Given the description of an element on the screen output the (x, y) to click on. 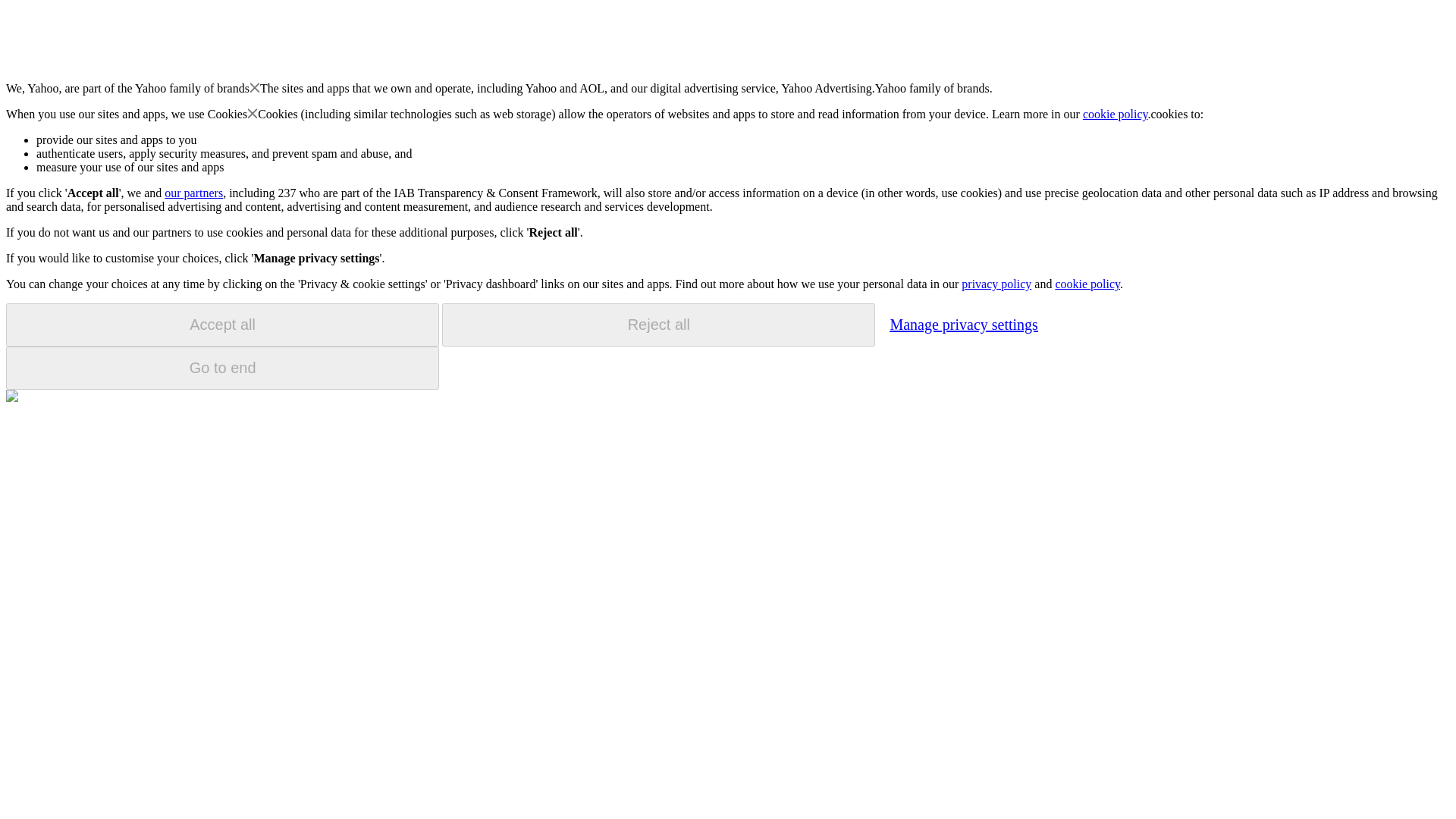
Reject all (658, 324)
Accept all (222, 324)
cookie policy (1115, 113)
our partners (193, 192)
privacy policy (995, 283)
cookie policy (1086, 283)
Manage privacy settings (963, 323)
Go to end (222, 367)
